Given the description of an element on the screen output the (x, y) to click on. 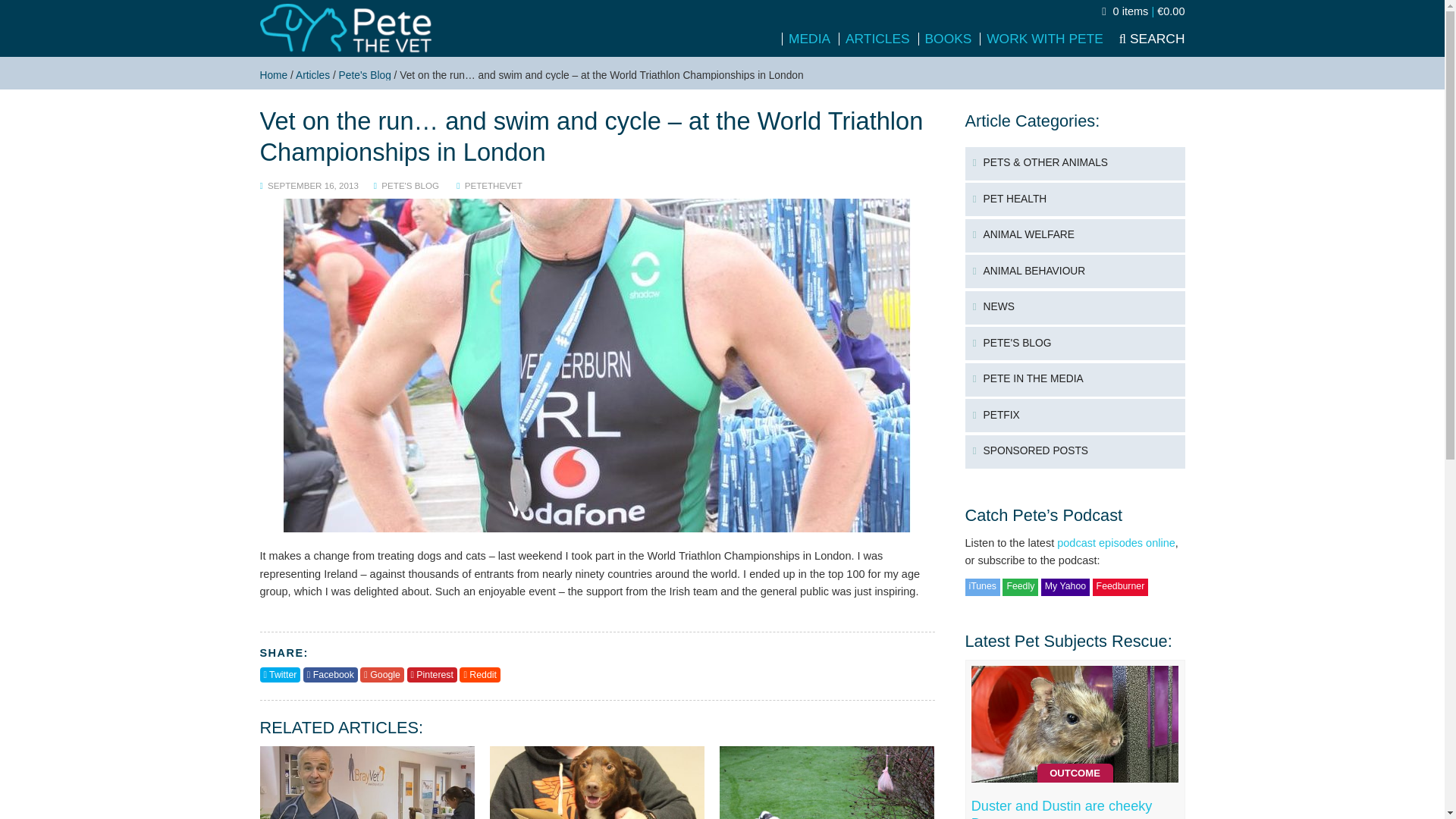
Twitter (279, 674)
Reddit (479, 674)
PETE'S BLOG (410, 185)
BOOKS (946, 38)
Facebook (330, 674)
Go to Basket (1143, 10)
WORK WITH PETE (1043, 38)
Home (272, 75)
Articles (312, 75)
Pinterest (431, 674)
ARTICLES (876, 38)
Pete's Blog (365, 75)
SEARCH (1146, 38)
Google (381, 674)
MEDIA (807, 38)
